Given the description of an element on the screen output the (x, y) to click on. 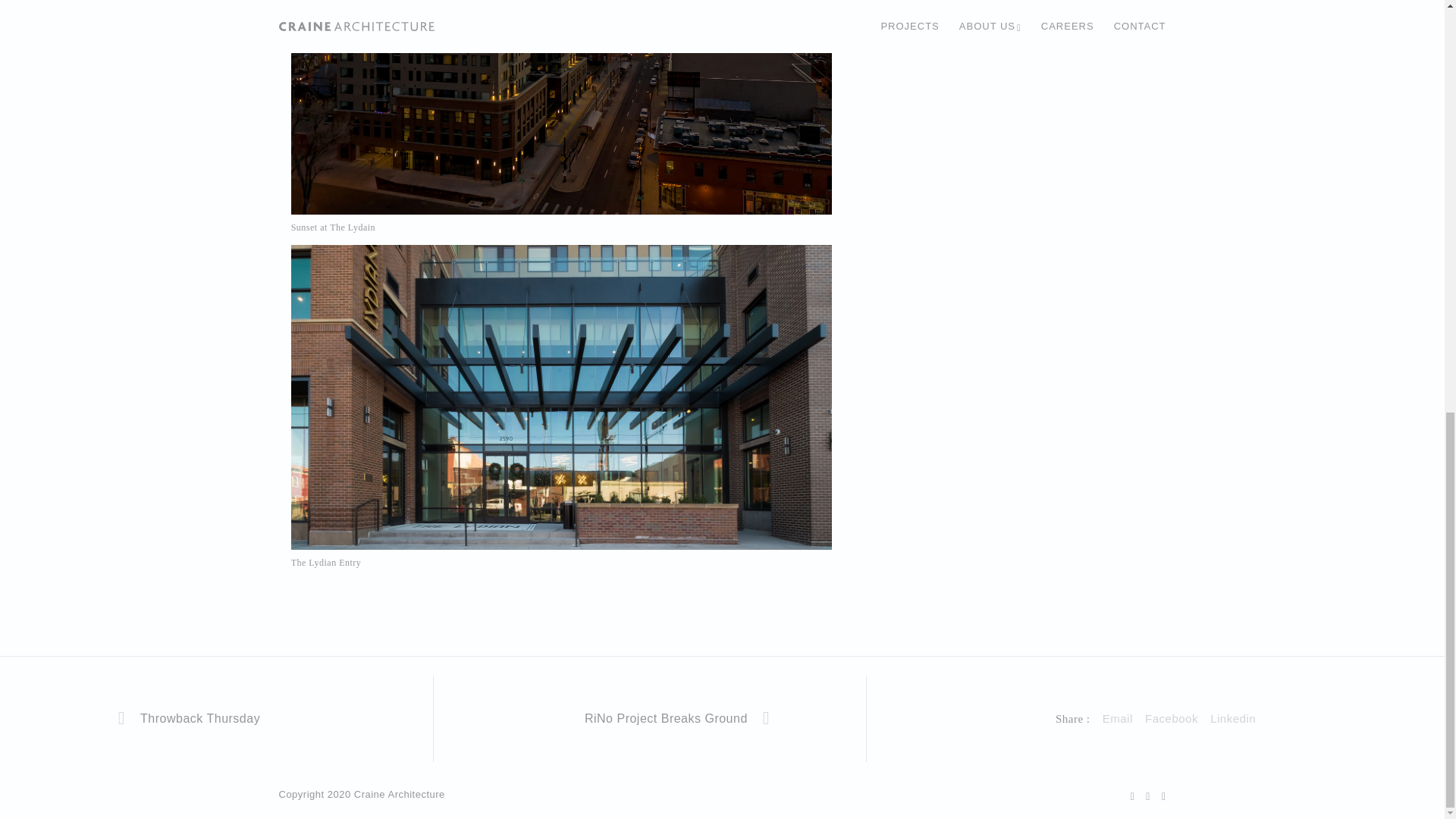
2018 Downtown Denver Award Winner! (1232, 718)
RiNo Project Breaks Ground (649, 718)
Facebook (1171, 718)
Email (1117, 718)
2018 Downtown Denver Award Winner! (1117, 718)
Throwback Thursday (216, 718)
Linkedin (1232, 718)
2018 Downtown Denver Award Winner! (1171, 718)
